Given the description of an element on the screen output the (x, y) to click on. 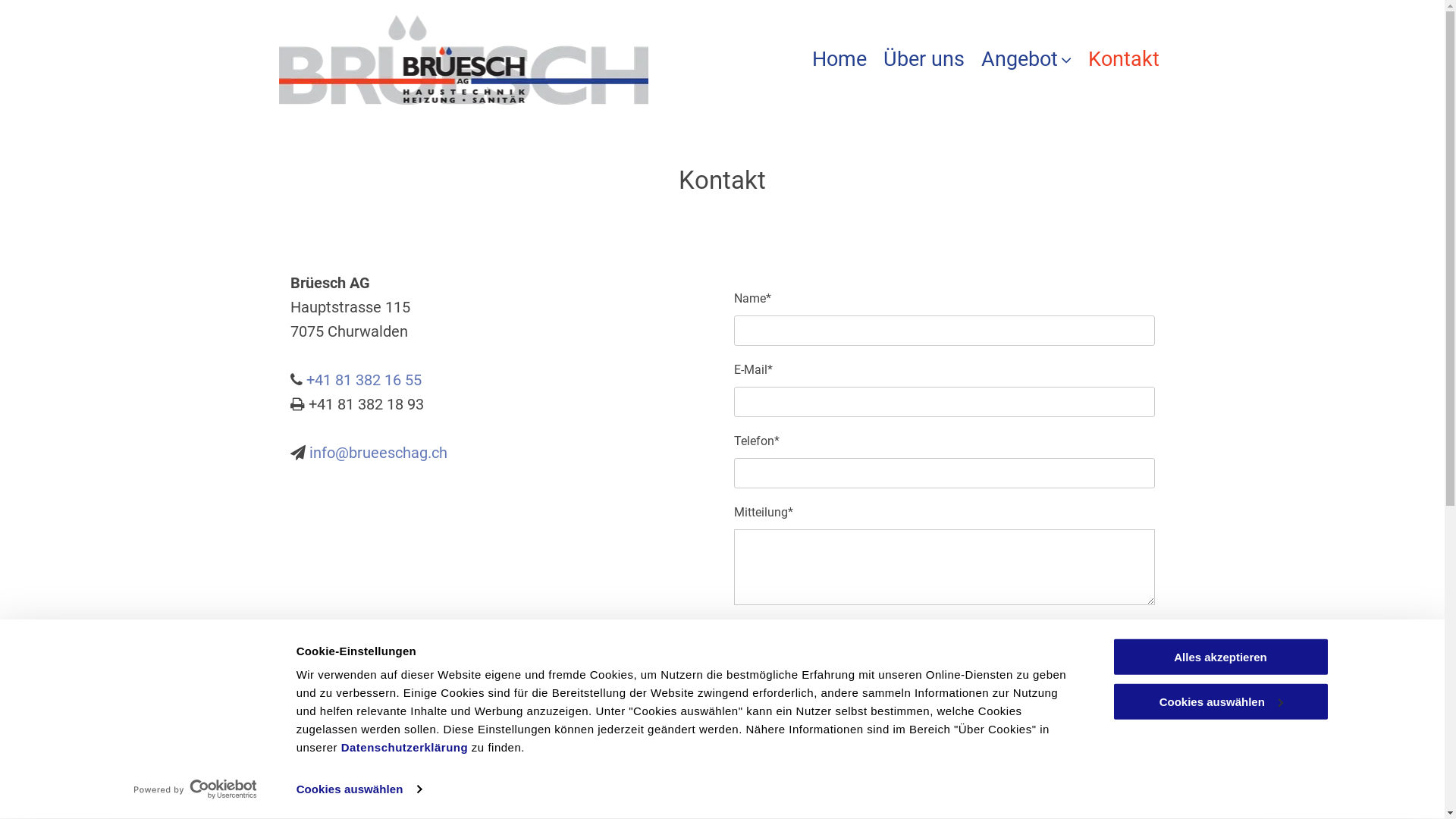
Senden Element type: text (774, 642)
+41 81 382 16 55 Element type: text (363, 379)
Alles akzeptieren Element type: text (1219, 656)
Angebot Element type: text (1026, 59)
Home Element type: text (839, 59)
Kontakt Element type: text (1123, 59)
info@brueeschag.ch Element type: text (378, 452)
